Given the description of an element on the screen output the (x, y) to click on. 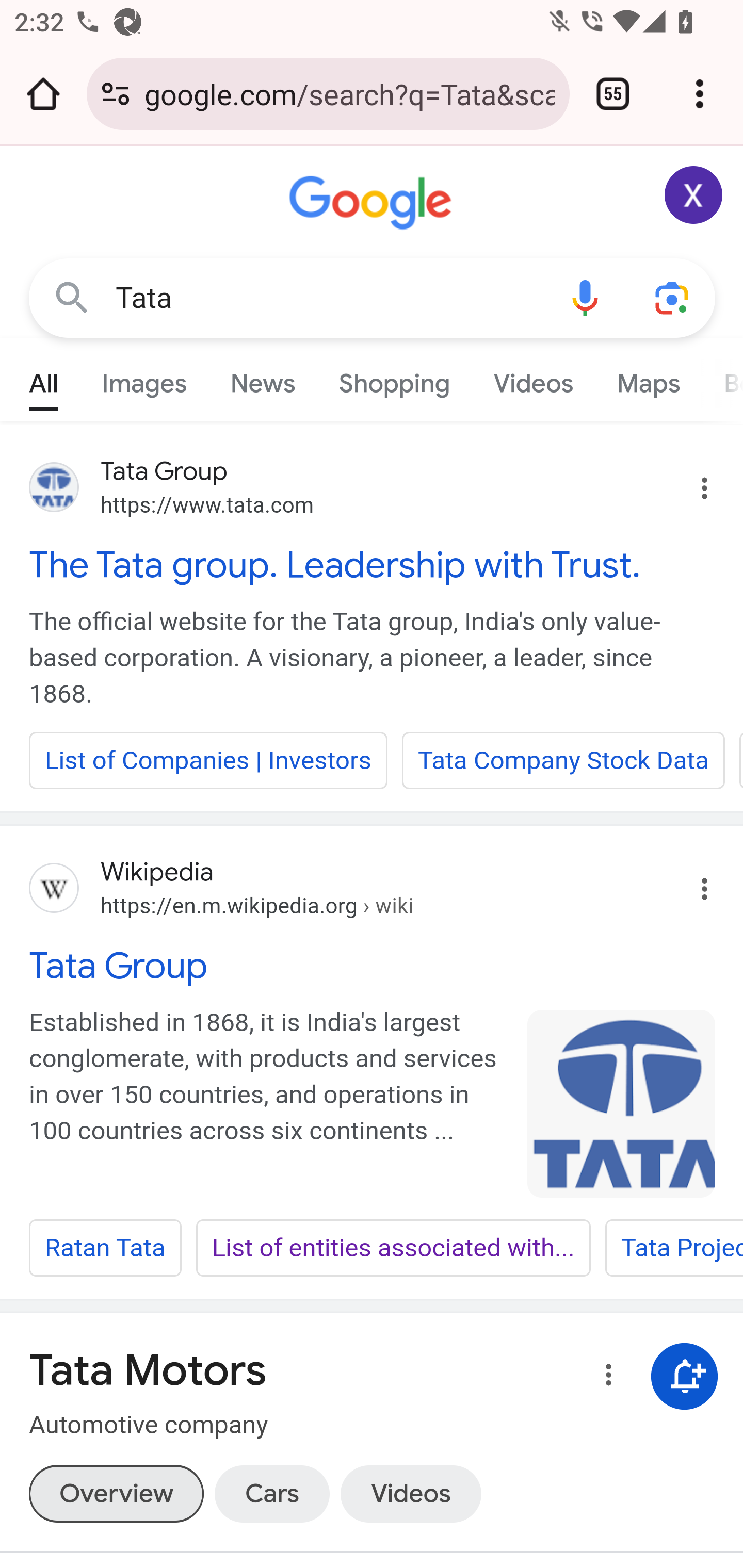
Open the home page (43, 93)
Connection is secure (115, 93)
Switch or close tabs (612, 93)
Customize and control Google Chrome (699, 93)
Google (372, 203)
Google Account: Xiaoran (zxrappiumtest@gmail.com) (694, 195)
Google Search (71, 296)
Search using your camera or photos (672, 296)
Tata (328, 297)
Images (144, 378)
News (262, 378)
Shopping (394, 378)
Videos (533, 378)
Maps (647, 378)
The Tata group. Leadership with Trust. (372, 564)
List of Companies | Investors (207, 760)
Tata Company Stock Data (563, 760)
Tata Group (372, 965)
Tata_Group (621, 1102)
Ratan Tata (105, 1247)
List of entities associated with... (393, 1247)
Tata Projects (673, 1247)
Get notifications about Tata Motors (684, 1376)
More options (605, 1378)
Overview (116, 1493)
Cars (271, 1493)
Videos (410, 1493)
